Given the description of an element on the screen output the (x, y) to click on. 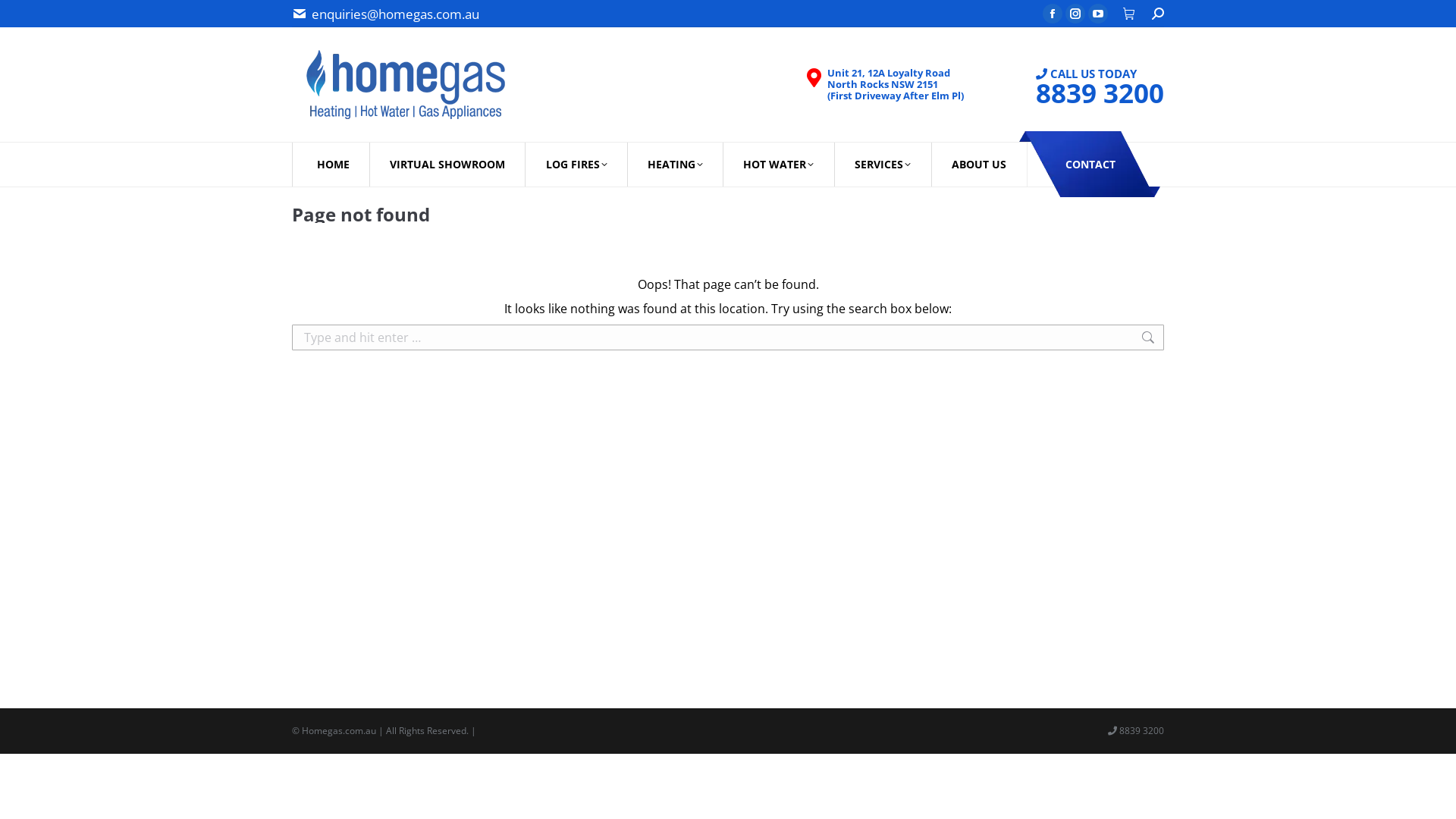
YouTube page opens in new window Element type: hover (1097, 13)
ABOUT US Element type: text (979, 164)
HEATING Element type: text (674, 164)
CALL US TODAY Element type: text (1085, 84)
  Element type: text (1129, 12)
HOT WATER Element type: text (778, 164)
Go! Element type: text (1189, 343)
LOG FIRES Element type: text (576, 164)
Facebook page opens in new window Element type: hover (1052, 13)
VIRTUAL SHOWROOM Element type: text (447, 164)
HOME Element type: text (332, 164)
8839 3200 Element type: text (1140, 730)
8839 3200 Element type: text (1099, 91)
CONTACT Element type: text (1089, 163)
SERVICES Element type: text (881, 164)
enquiries@homegas.com.au Element type: text (395, 12)
Go! Element type: text (25, 19)
Instagram page opens in new window Element type: hover (1075, 13)
